Given the description of an element on the screen output the (x, y) to click on. 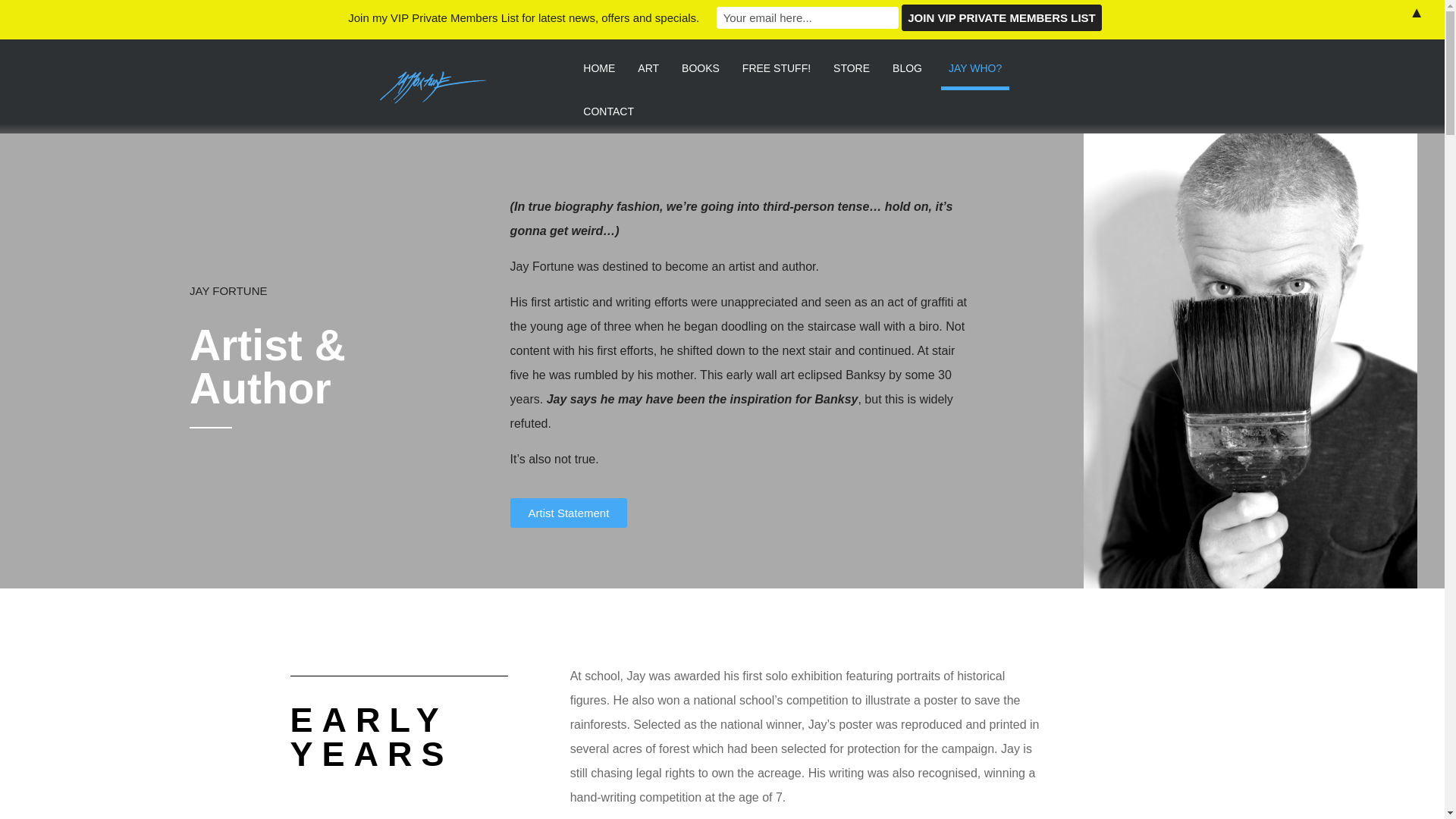
Artist Statement (569, 512)
BLOG (909, 68)
CONTACT (608, 111)
STORE (851, 68)
HOME (599, 68)
FREE STUFF! (776, 68)
ART (648, 68)
JAY WHO? (974, 68)
Join VIP Private Members List (1001, 17)
Join VIP Private Members List (1001, 17)
BOOKS (700, 68)
